Given the description of an element on the screen output the (x, y) to click on. 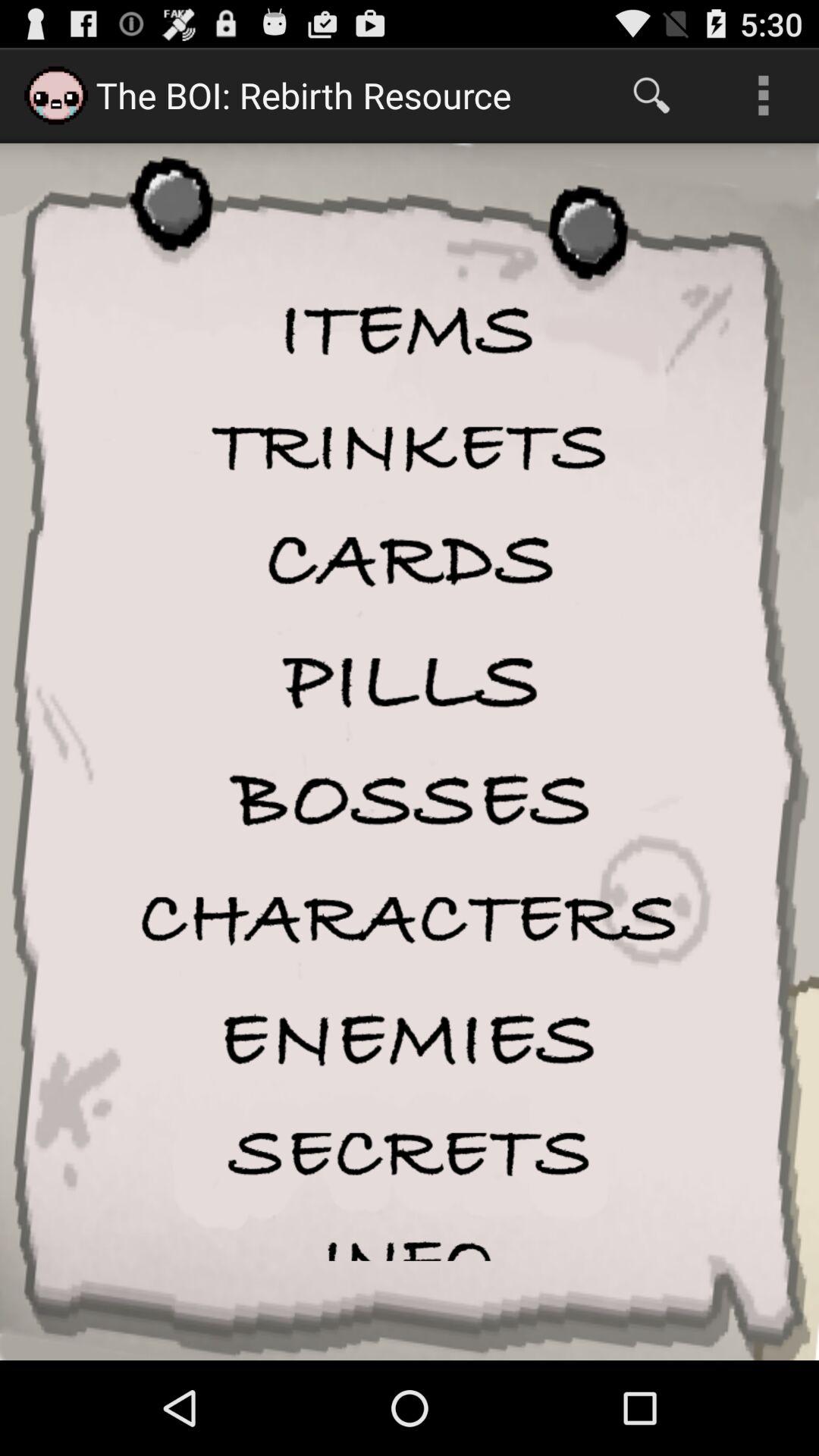
cards (409, 561)
